Given the description of an element on the screen output the (x, y) to click on. 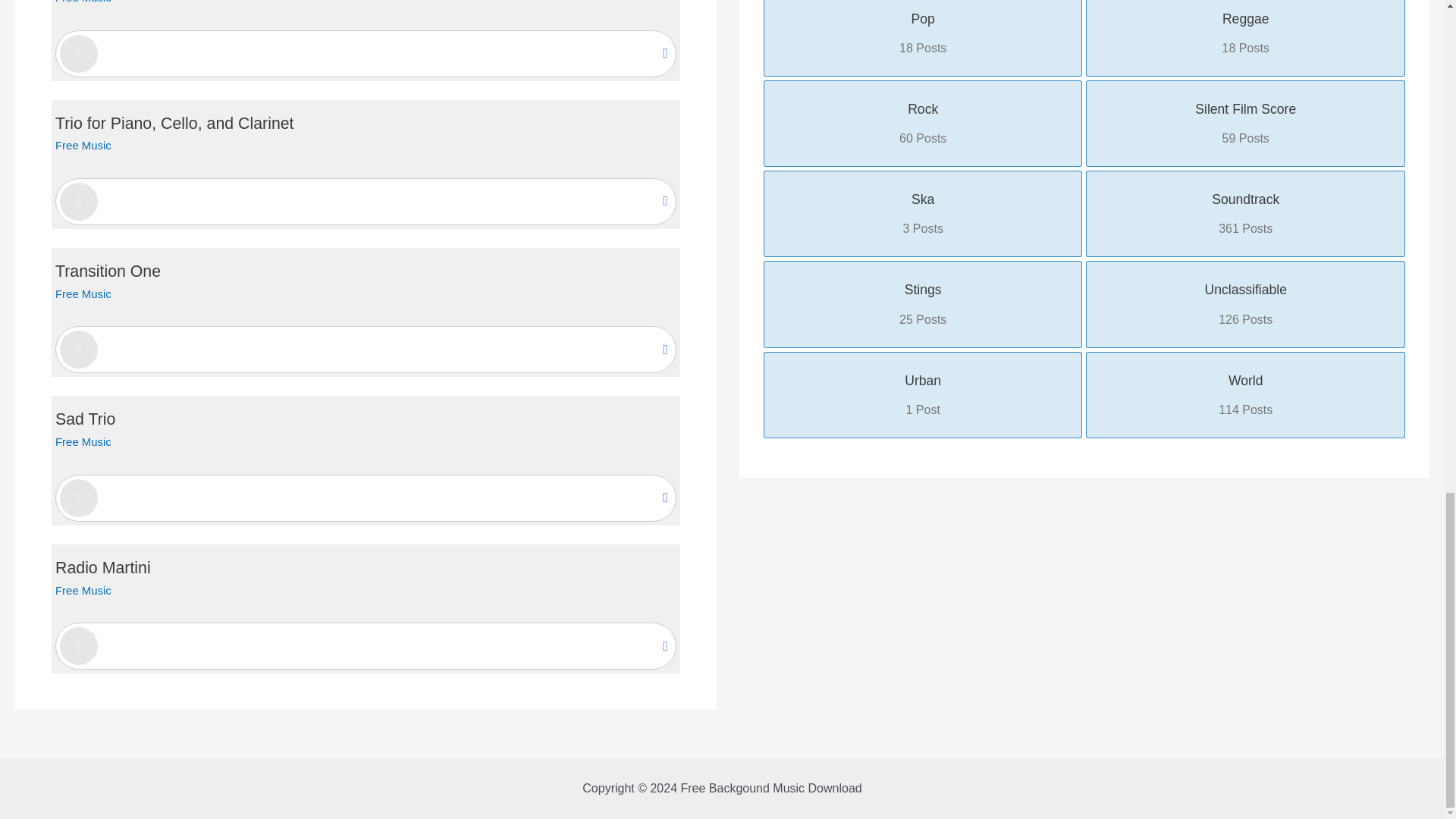
Free Music (83, 144)
Free Music (83, 2)
Trio for Piano, Cello, and Clarinet (174, 123)
